Given the description of an element on the screen output the (x, y) to click on. 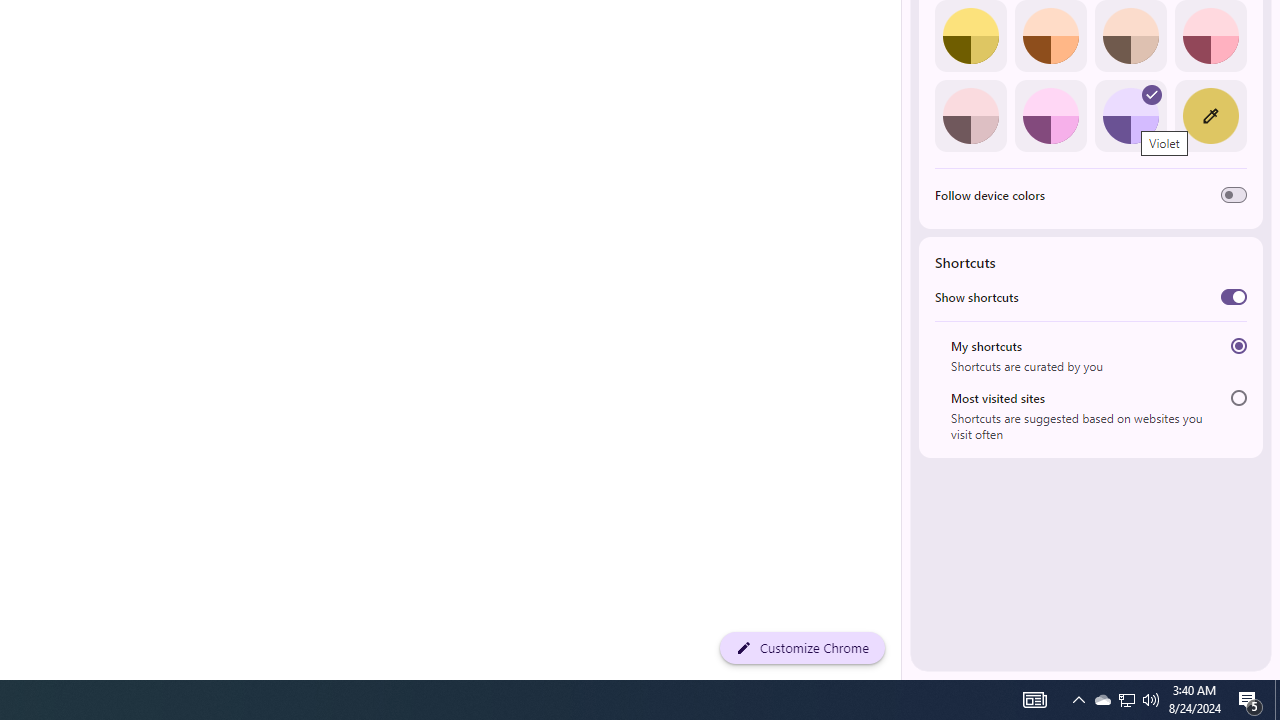
AutomationID: svg (1151, 94)
Fuchsia (1050, 115)
Citron (970, 36)
Apricot (1130, 36)
Follow device colors (1233, 195)
Violet (1130, 115)
Custom color (1210, 115)
Rose (1210, 36)
My shortcuts (1238, 345)
Show shortcuts (1233, 296)
Pink (970, 115)
Side Panel Resize Handle (905, 39)
Most visited sites (1238, 398)
Orange (1050, 36)
